Given the description of an element on the screen output the (x, y) to click on. 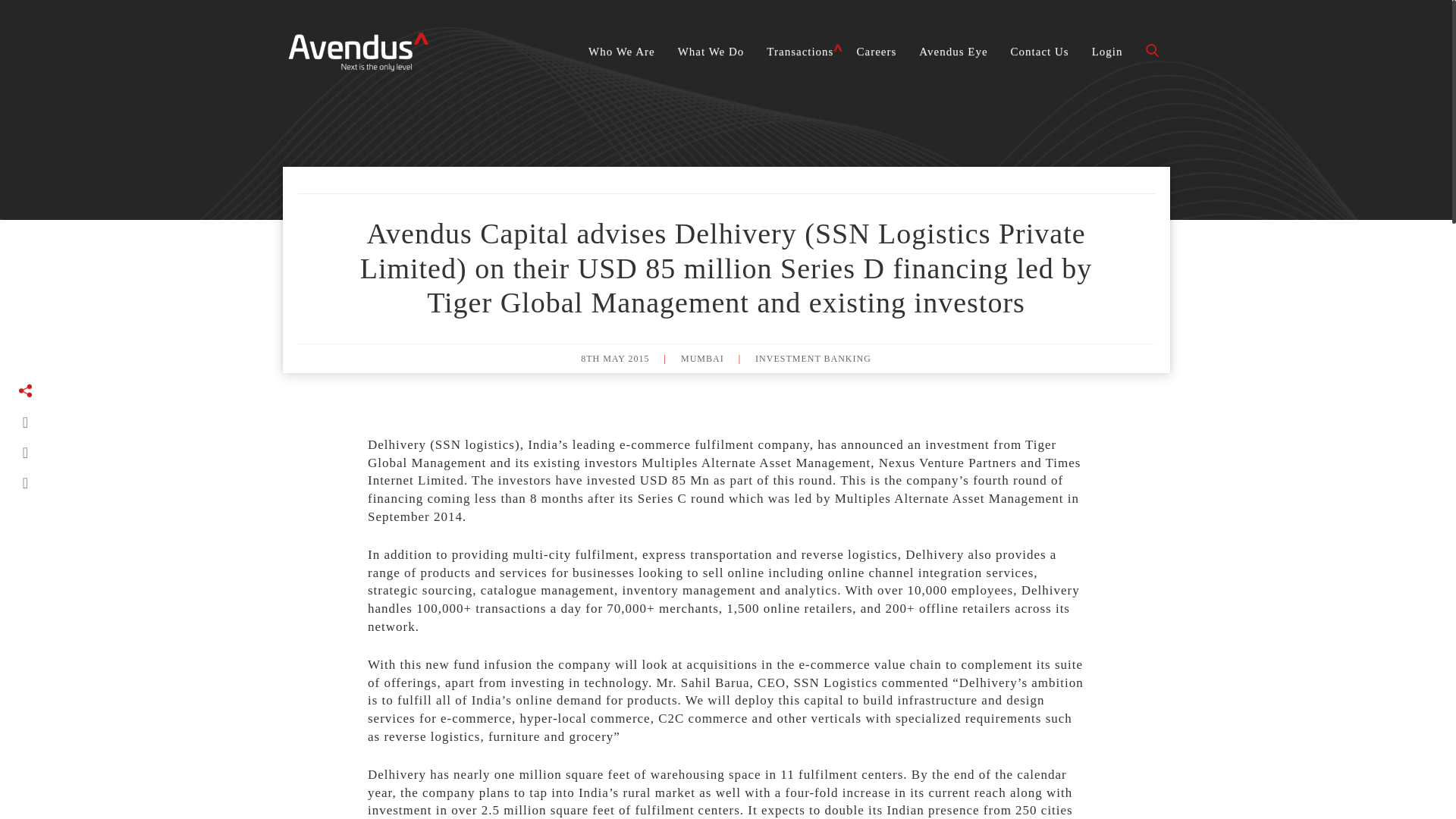
Careers (875, 51)
What We Do (710, 51)
Avendus Eye (952, 51)
Transactions (799, 51)
Login (1107, 51)
Who We Are (621, 51)
Contact Us (1039, 51)
